Given the description of an element on the screen output the (x, y) to click on. 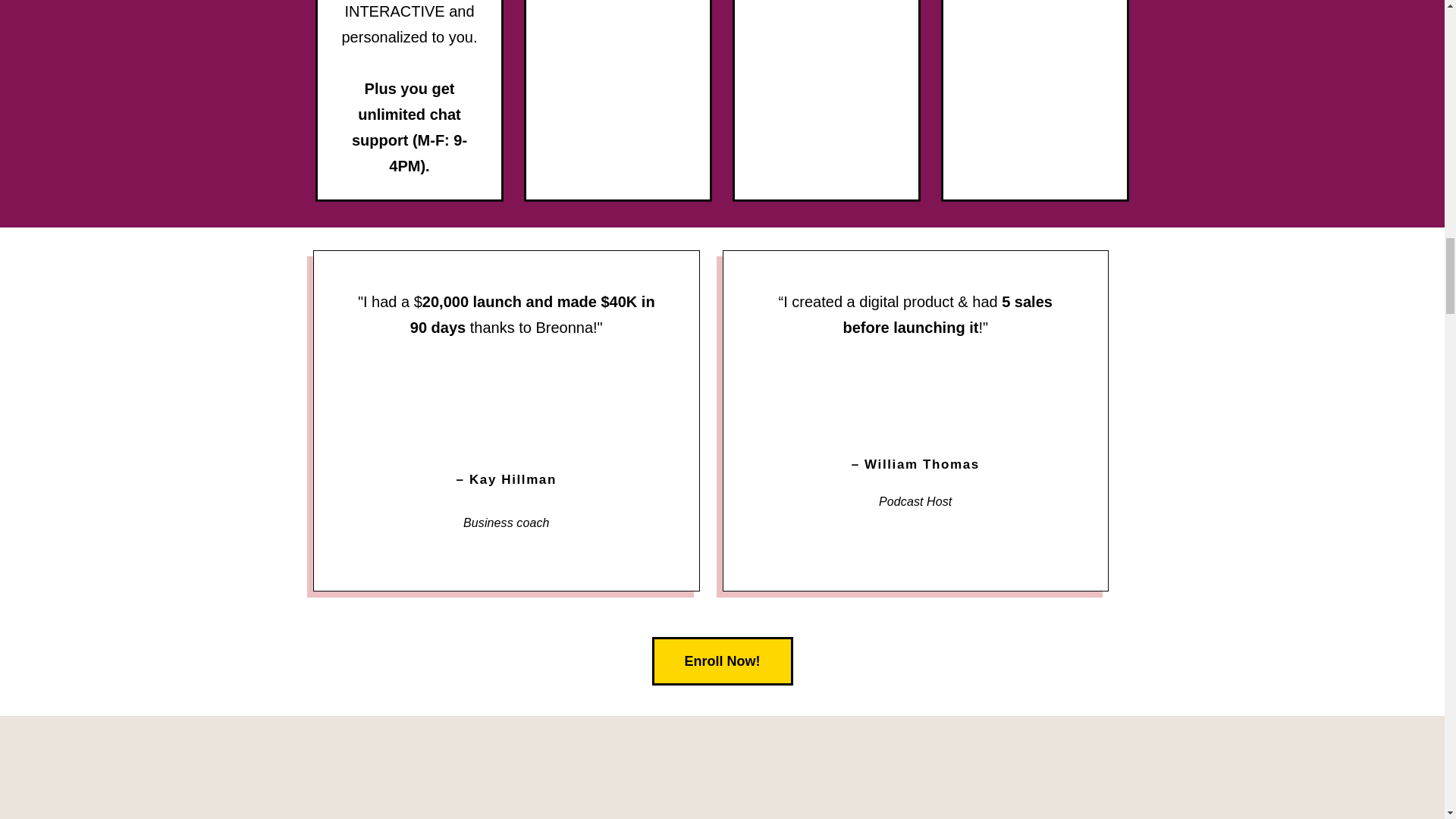
Enroll Now! (722, 661)
Screen-Shot-2021-11-02-at-9.26.20-PM-1.png (506, 396)
